Given the description of an element on the screen output the (x, y) to click on. 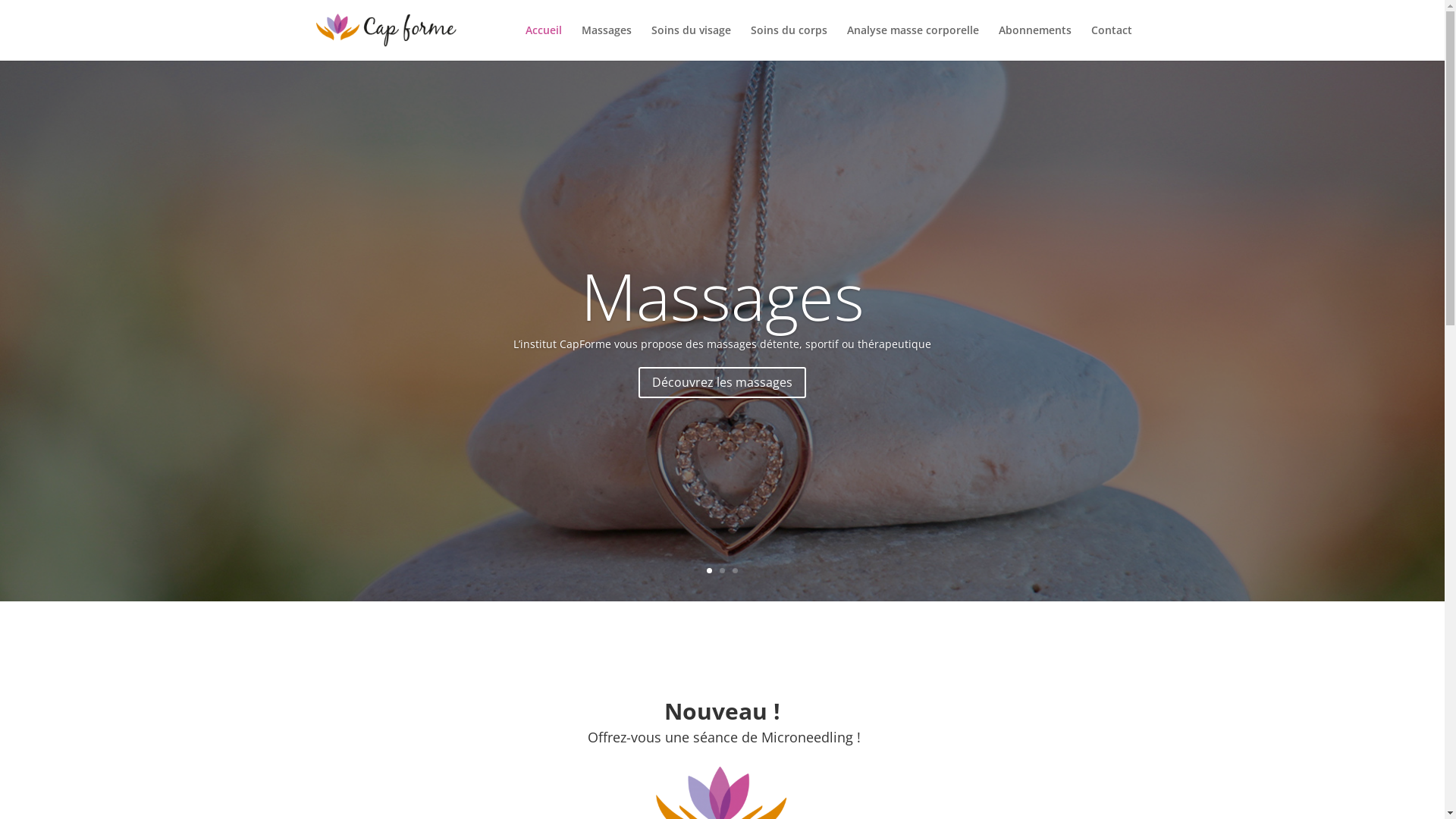
2 Element type: text (721, 570)
Abonnements Element type: text (1033, 42)
Massages Element type: text (605, 42)
Massages Element type: text (722, 295)
Analyse masse corporelle Element type: text (912, 42)
Contact Element type: text (1110, 42)
Accueil Element type: text (542, 42)
3 Element type: text (734, 570)
Soins du corps Element type: text (788, 42)
1 Element type: text (709, 570)
Soins du visage Element type: text (690, 42)
